Given the description of an element on the screen output the (x, y) to click on. 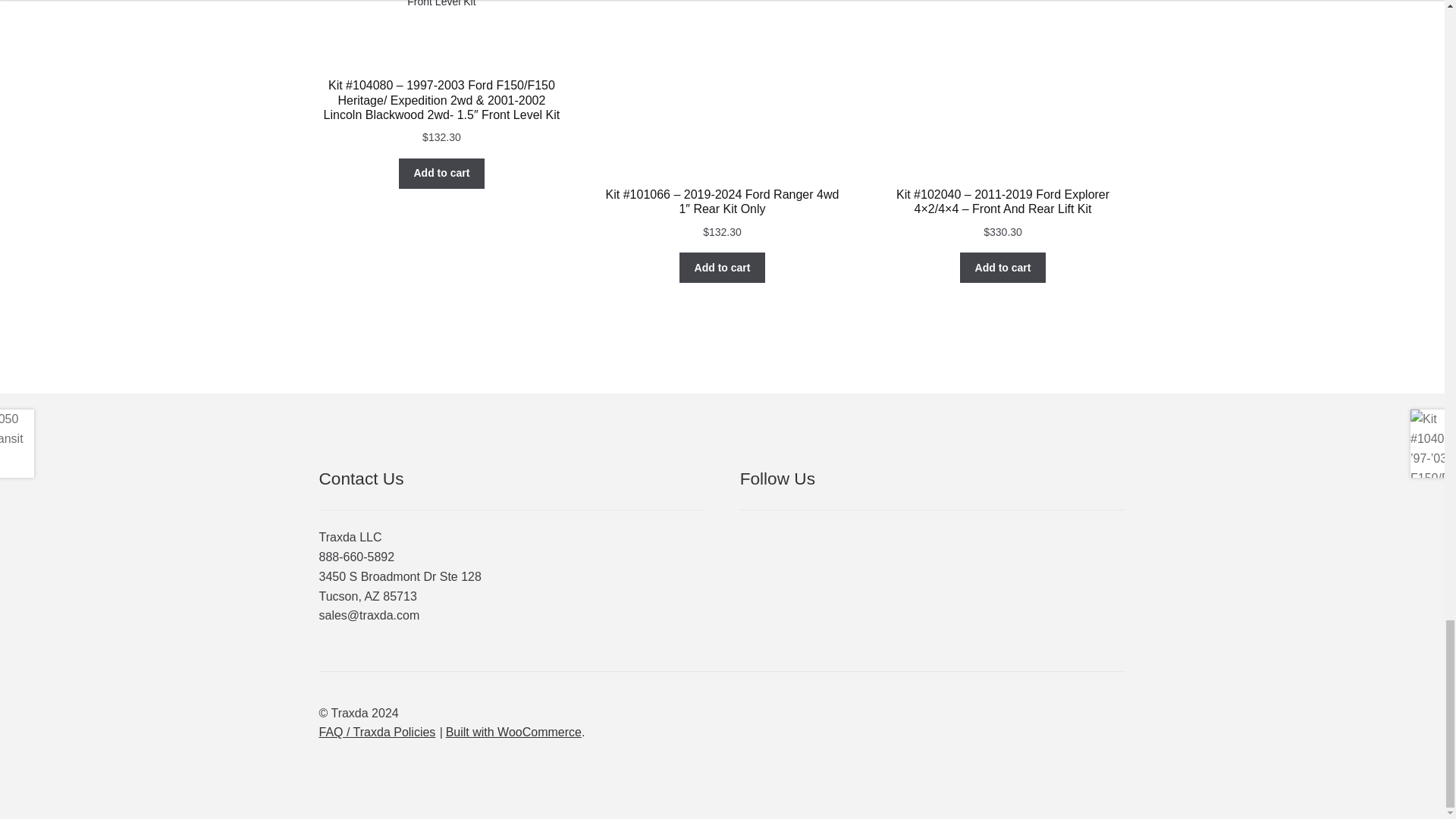
WooCommerce - The Best eCommerce Platform for WordPress (512, 731)
Add to cart (722, 267)
Add to cart (441, 173)
